Given the description of an element on the screen output the (x, y) to click on. 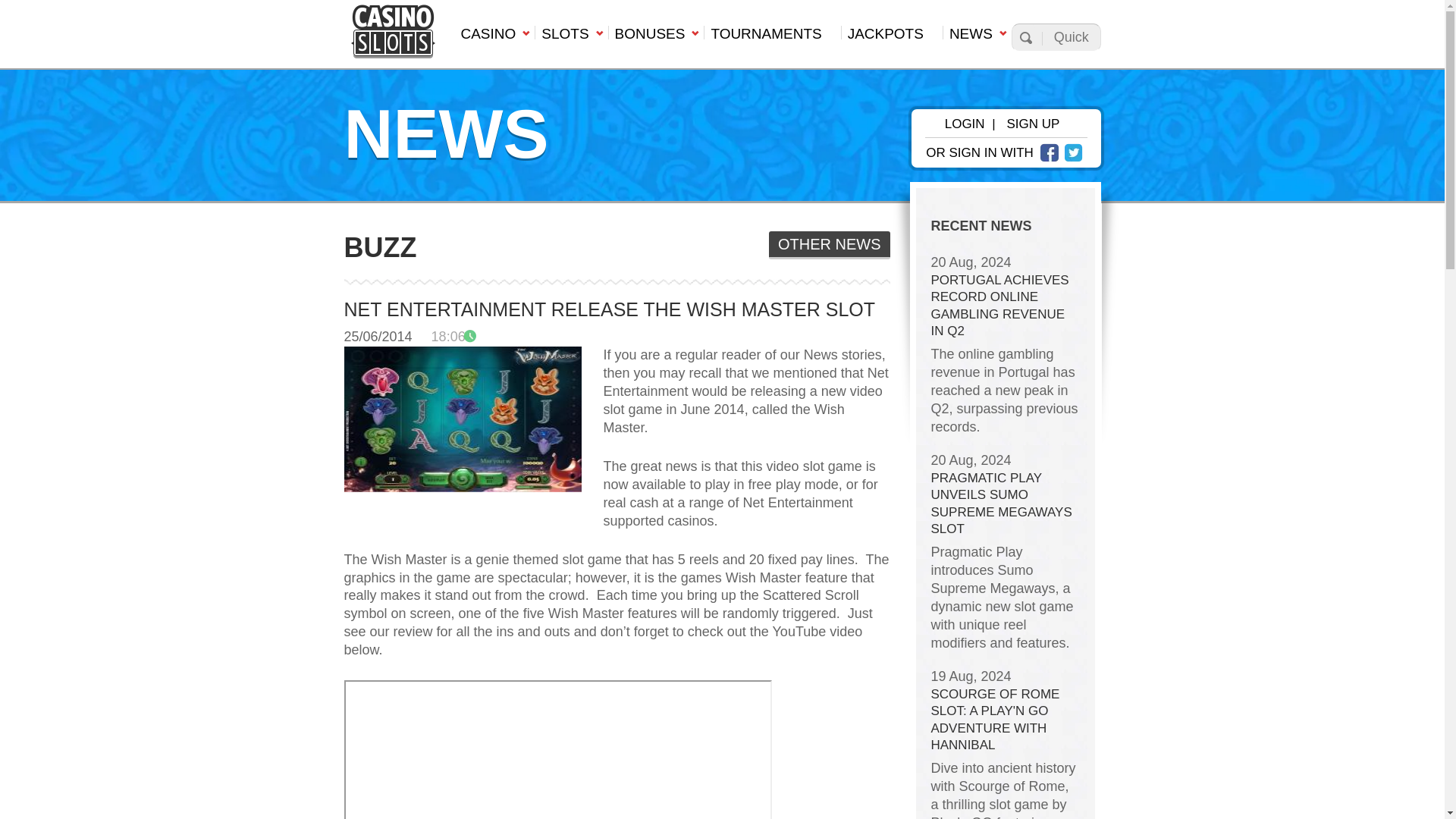
SLOTS (570, 37)
SIGN UP (1032, 124)
OTHER NEWS (828, 244)
TOURNAMENTS (771, 37)
JACKPOTS (891, 37)
NEWS (976, 37)
CASINO (493, 37)
BONUSES (656, 37)
